Given the description of an element on the screen output the (x, y) to click on. 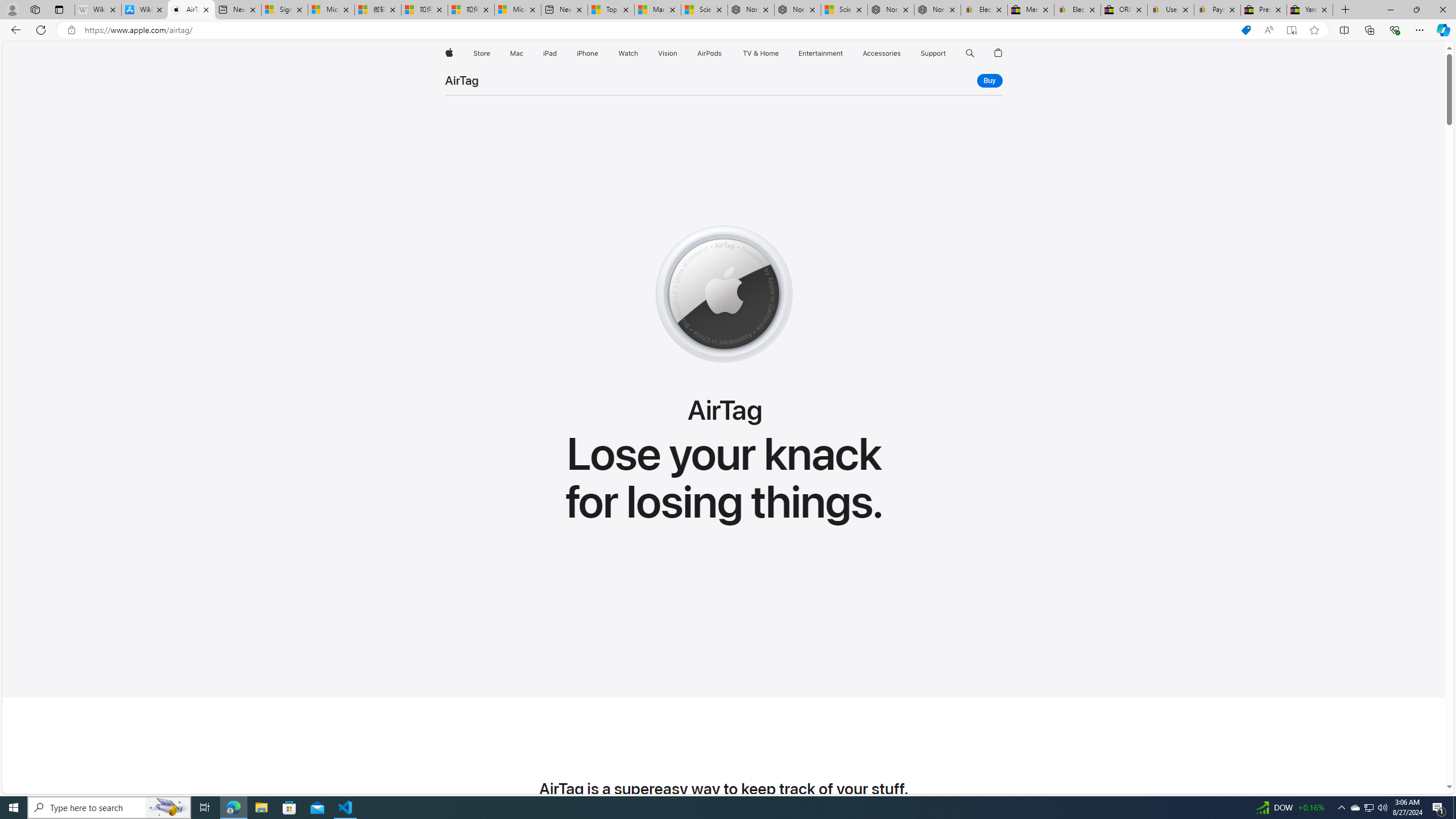
iPhone (587, 53)
Apple (448, 53)
Electronics, Cars, Fashion, Collectibles & More | eBay (1077, 9)
iPad menu (557, 53)
AirPods menu (723, 53)
AirPods (709, 53)
Mac menu (524, 53)
Mac (516, 53)
AutomationID: globalnav-bag (998, 53)
AirTag (461, 80)
